Given the description of an element on the screen output the (x, y) to click on. 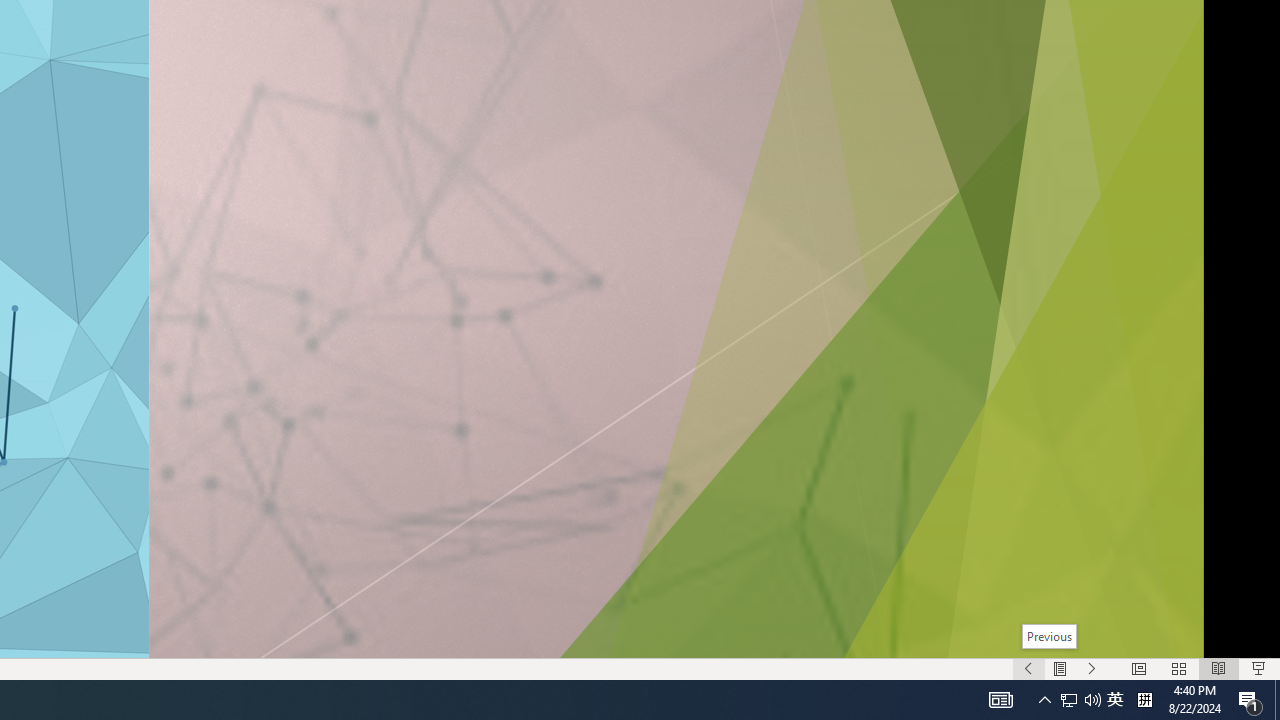
Previous (1048, 636)
Menu On (1060, 668)
Slide Show Previous On (1028, 668)
Slide Show Next On (1092, 668)
